Given the description of an element on the screen output the (x, y) to click on. 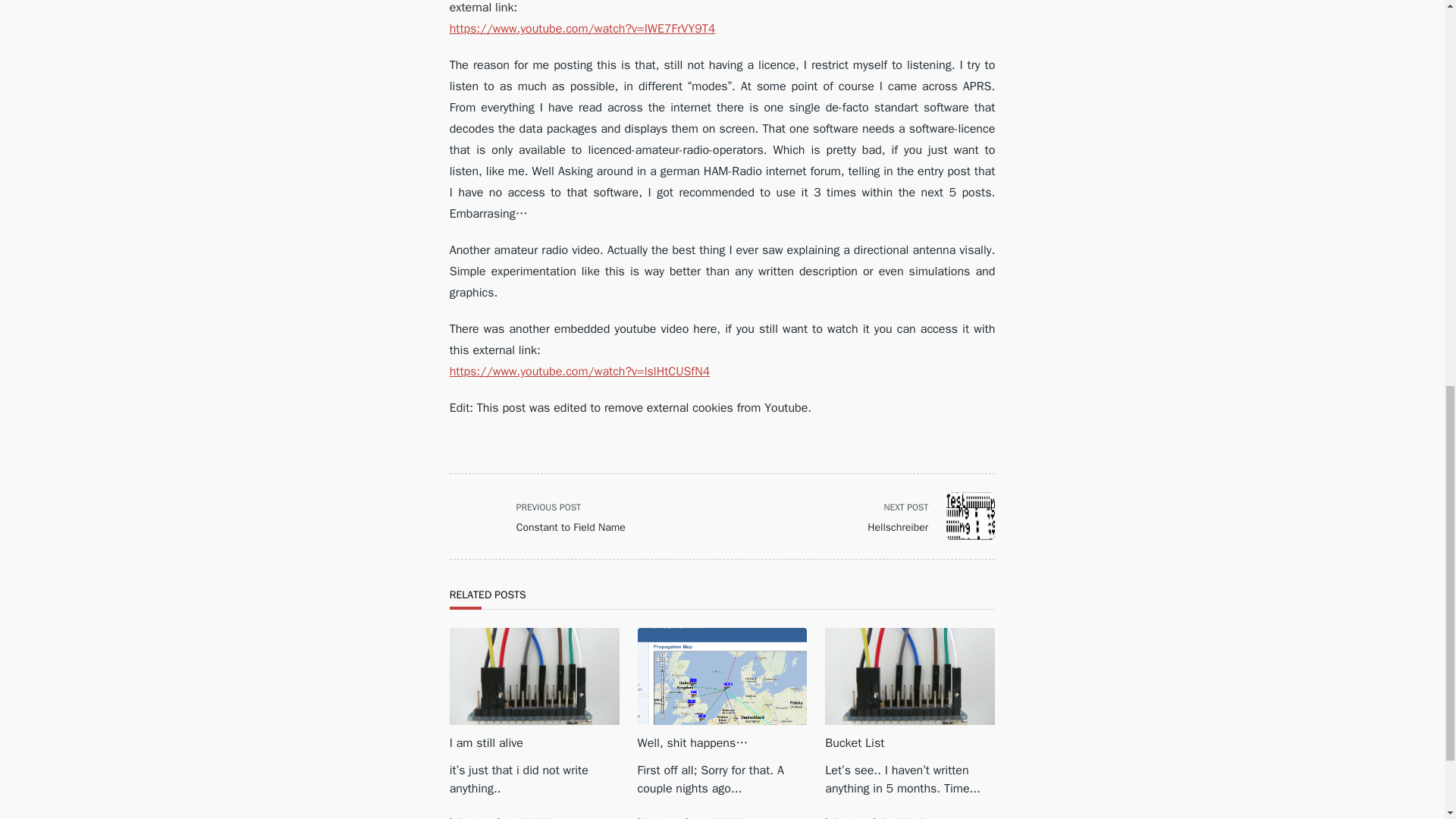
I am still alive (546, 516)
